Given the description of an element on the screen output the (x, y) to click on. 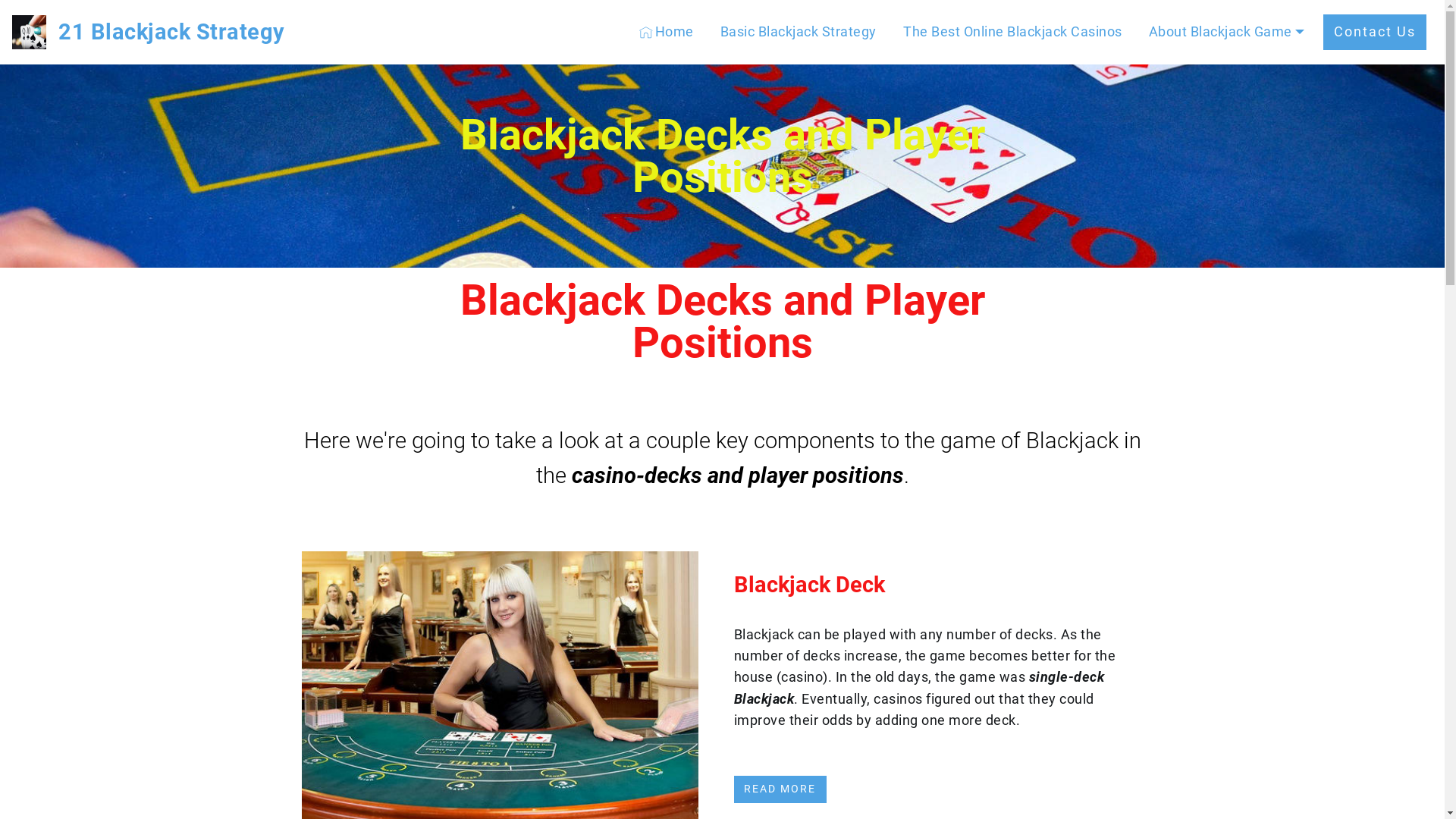
Contact Us Element type: text (1374, 32)
About Blackjack Game Element type: text (1226, 32)
Basic Blackjack Strategy Element type: text (798, 32)
Home Element type: text (666, 32)
The Best Online Blackjack Casinos Element type: text (1012, 32)
READ MORE Element type: text (780, 789)
